Given the description of an element on the screen output the (x, y) to click on. 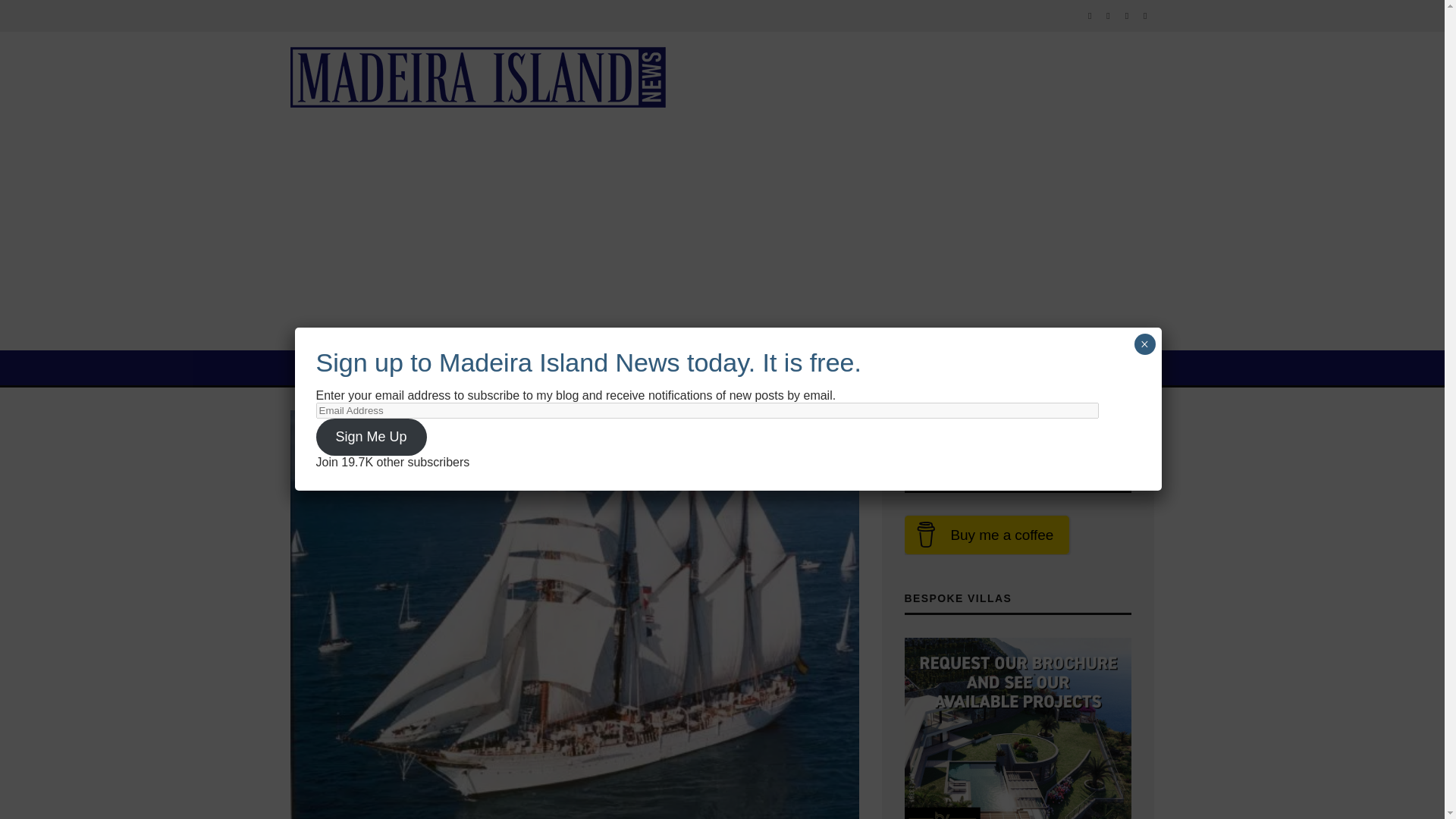
ABOUT ME (393, 367)
LICENSED PROPERTIES (531, 367)
APPS (865, 367)
HOME (318, 367)
PARTNERS (791, 367)
LINKS (922, 367)
MY SPONSORS (684, 367)
